Given the description of an element on the screen output the (x, y) to click on. 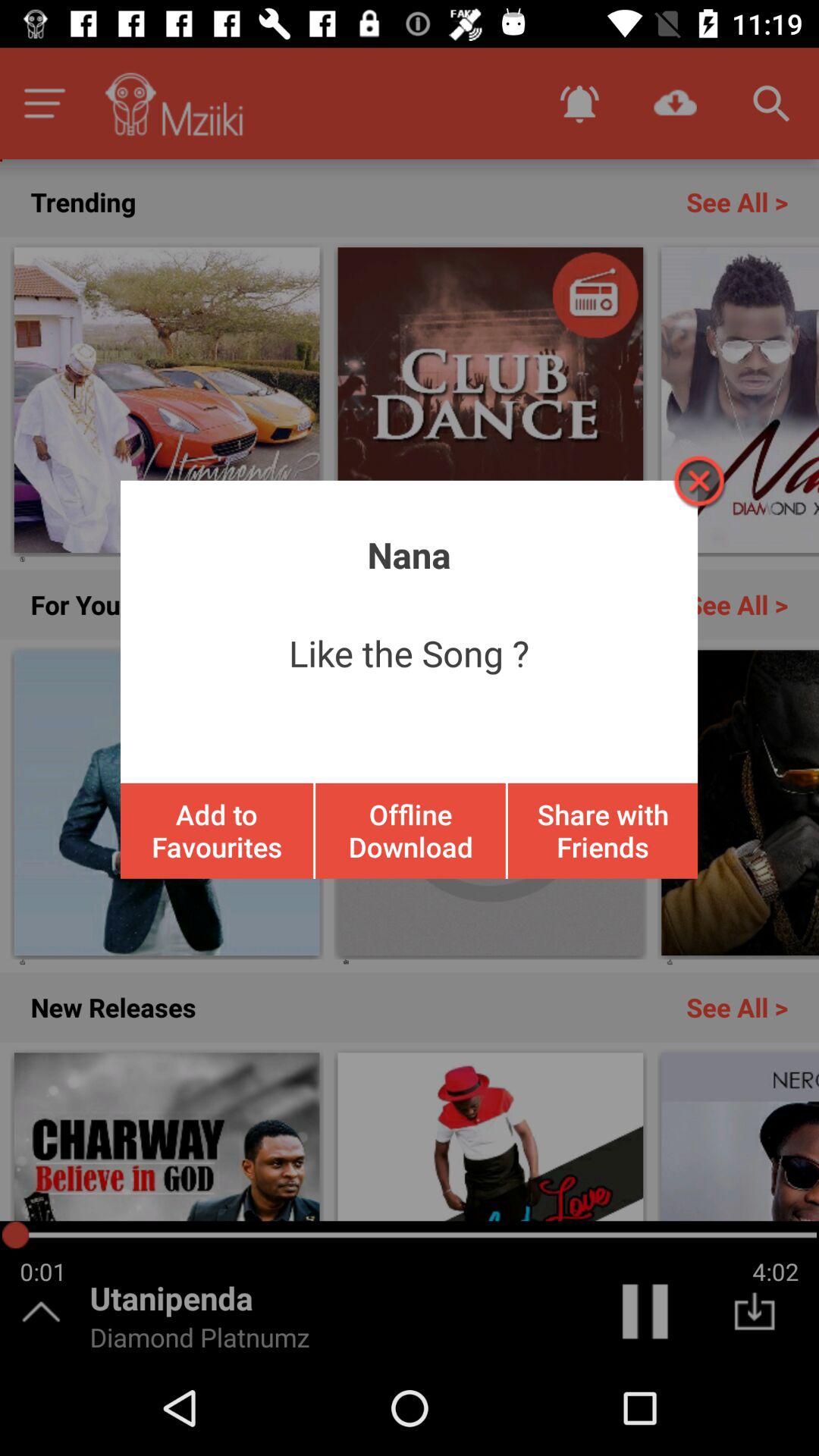
open icon next to the share with friends item (410, 830)
